Given the description of an element on the screen output the (x, y) to click on. 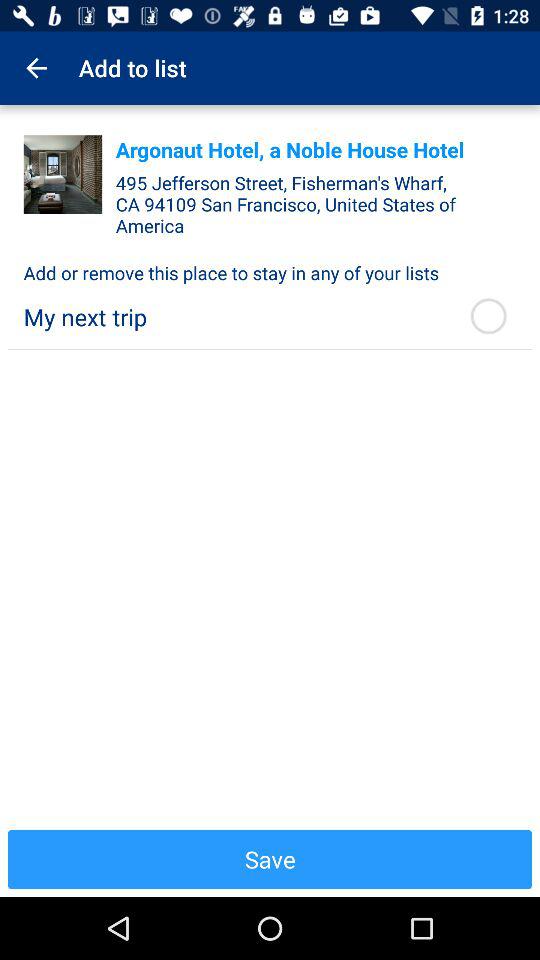
share the article (62, 174)
